Given the description of an element on the screen output the (x, y) to click on. 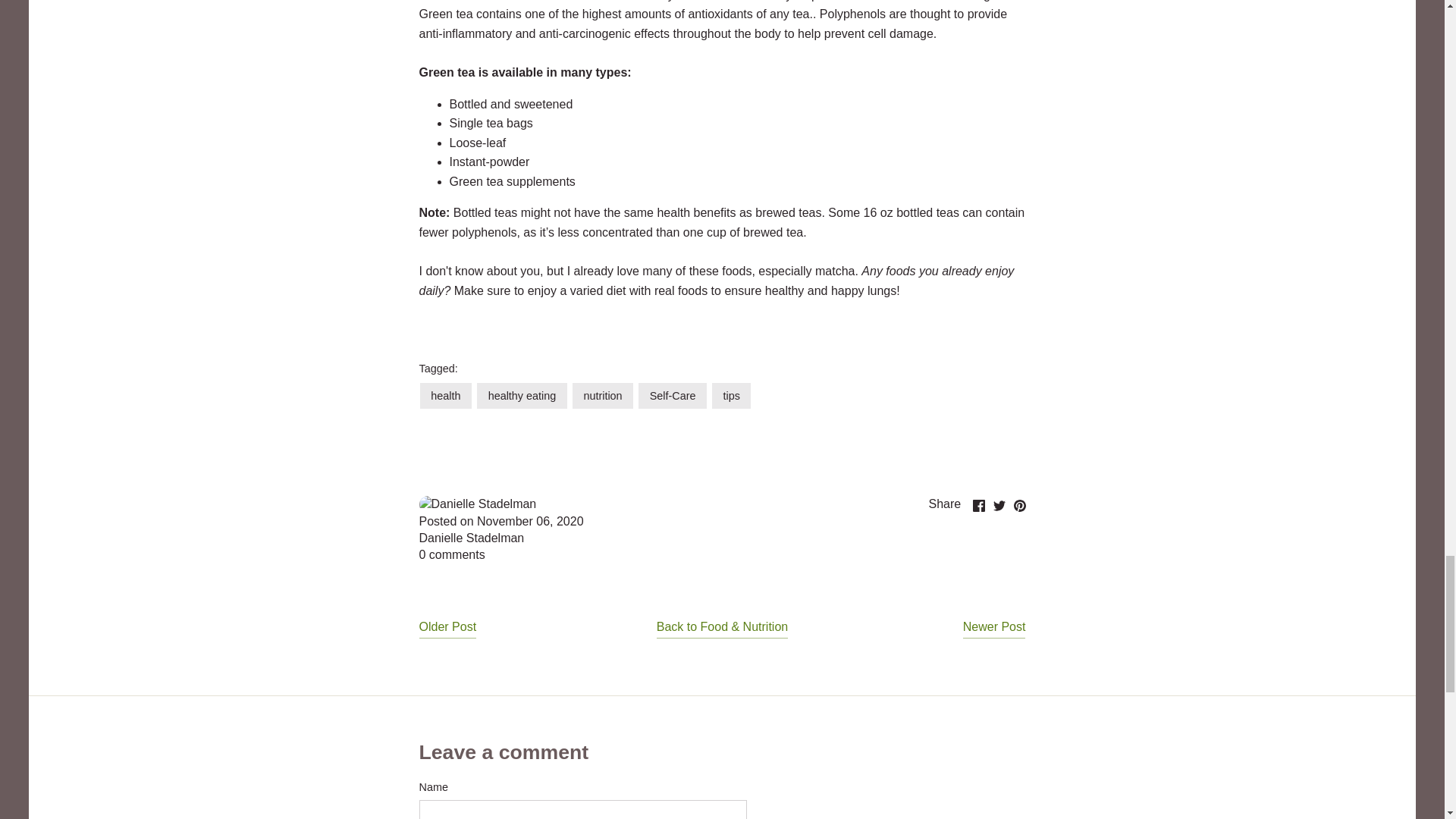
Older Post (447, 630)
Facebook (978, 505)
health (445, 395)
Self-Care (672, 395)
Pinterest (1019, 505)
Newer Post (994, 630)
Show articles tagged nutrition (602, 395)
Show articles tagged tips (731, 395)
healthy eating (521, 395)
nutrition (602, 395)
